Given the description of an element on the screen output the (x, y) to click on. 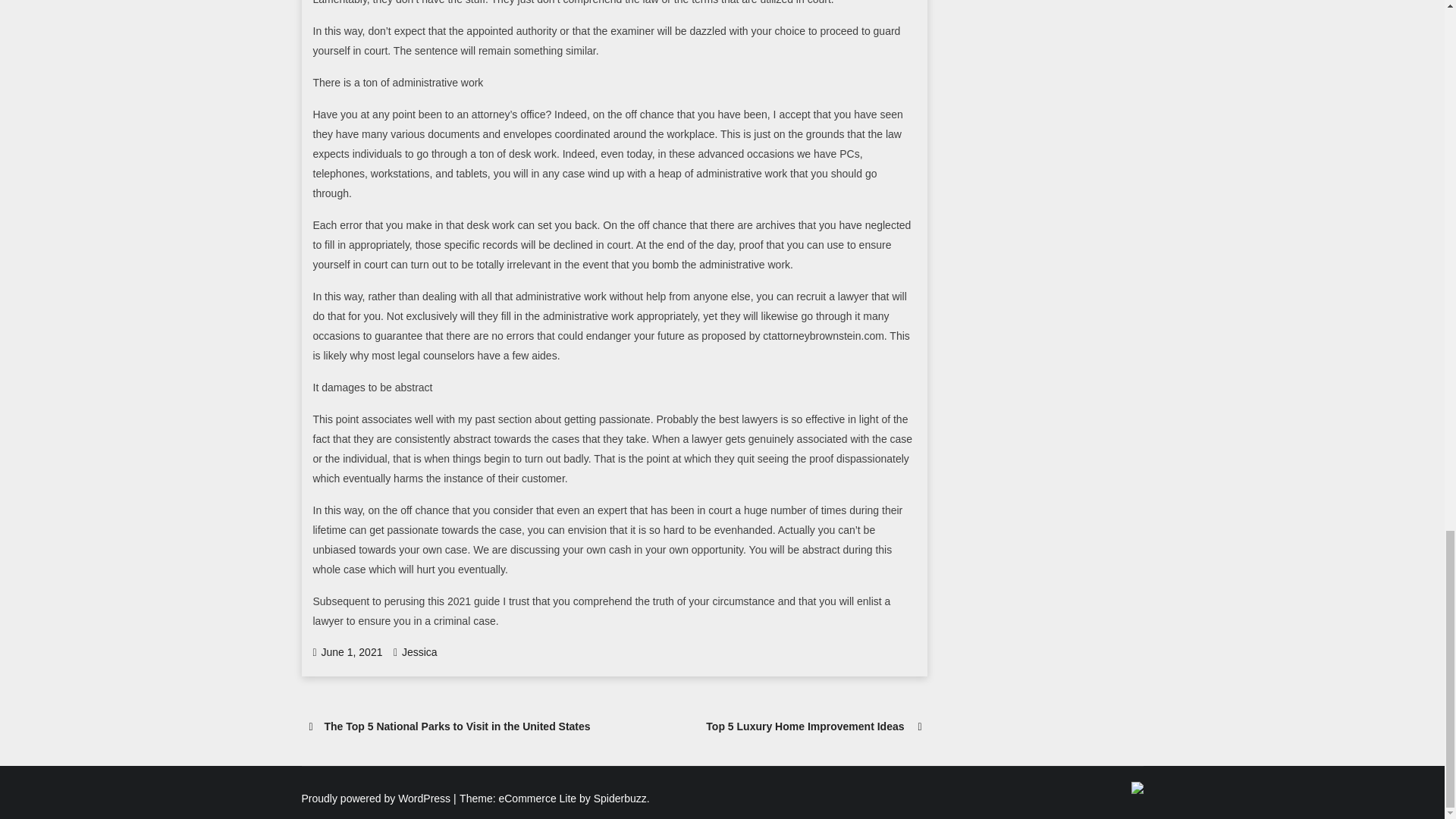
The Top 5 National Parks to Visit in the United States (457, 726)
Top 5 Luxury Home Improvement Ideas (805, 726)
